Given the description of an element on the screen output the (x, y) to click on. 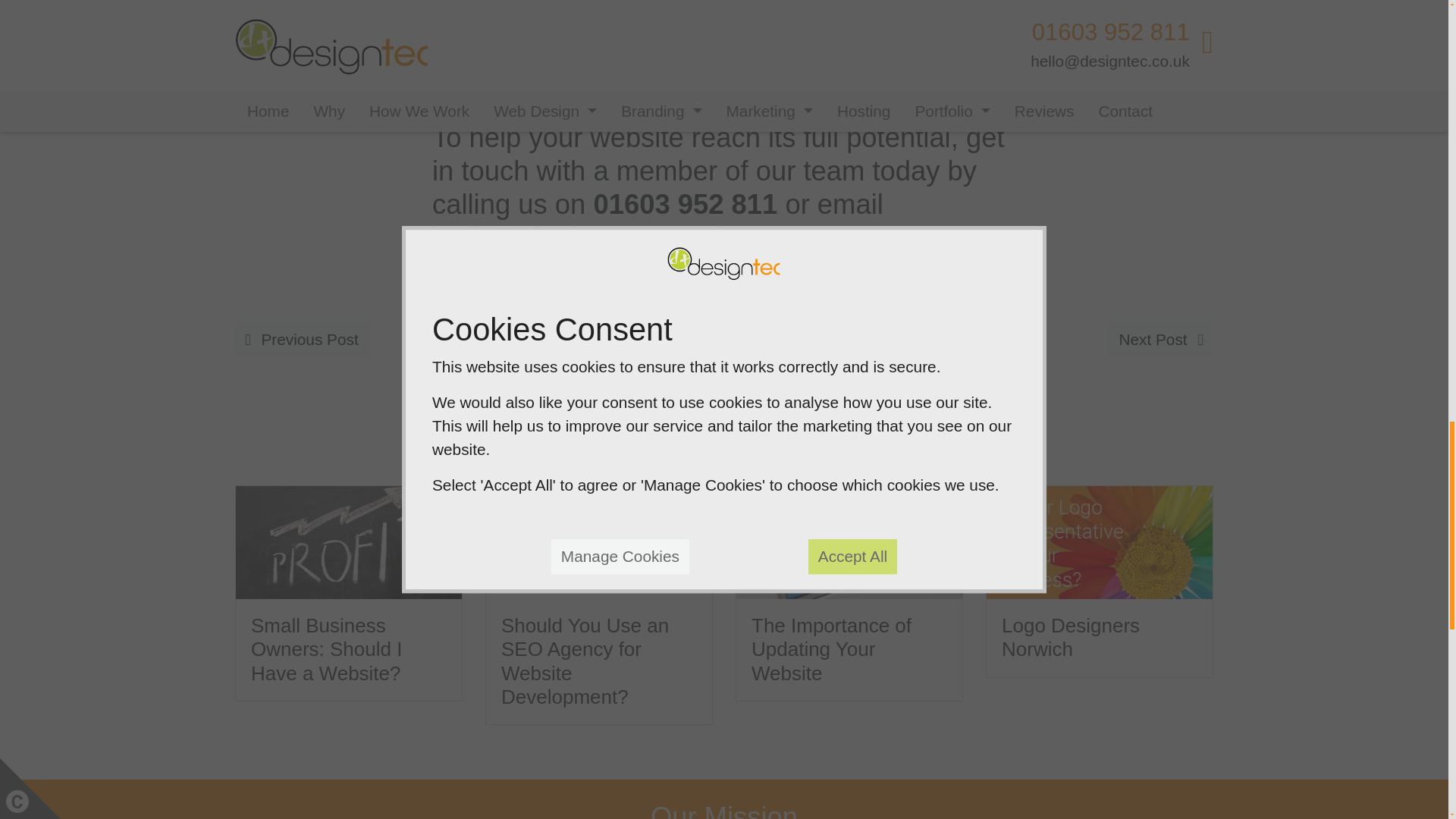
professional copywriter (924, 49)
